Given the description of an element on the screen output the (x, y) to click on. 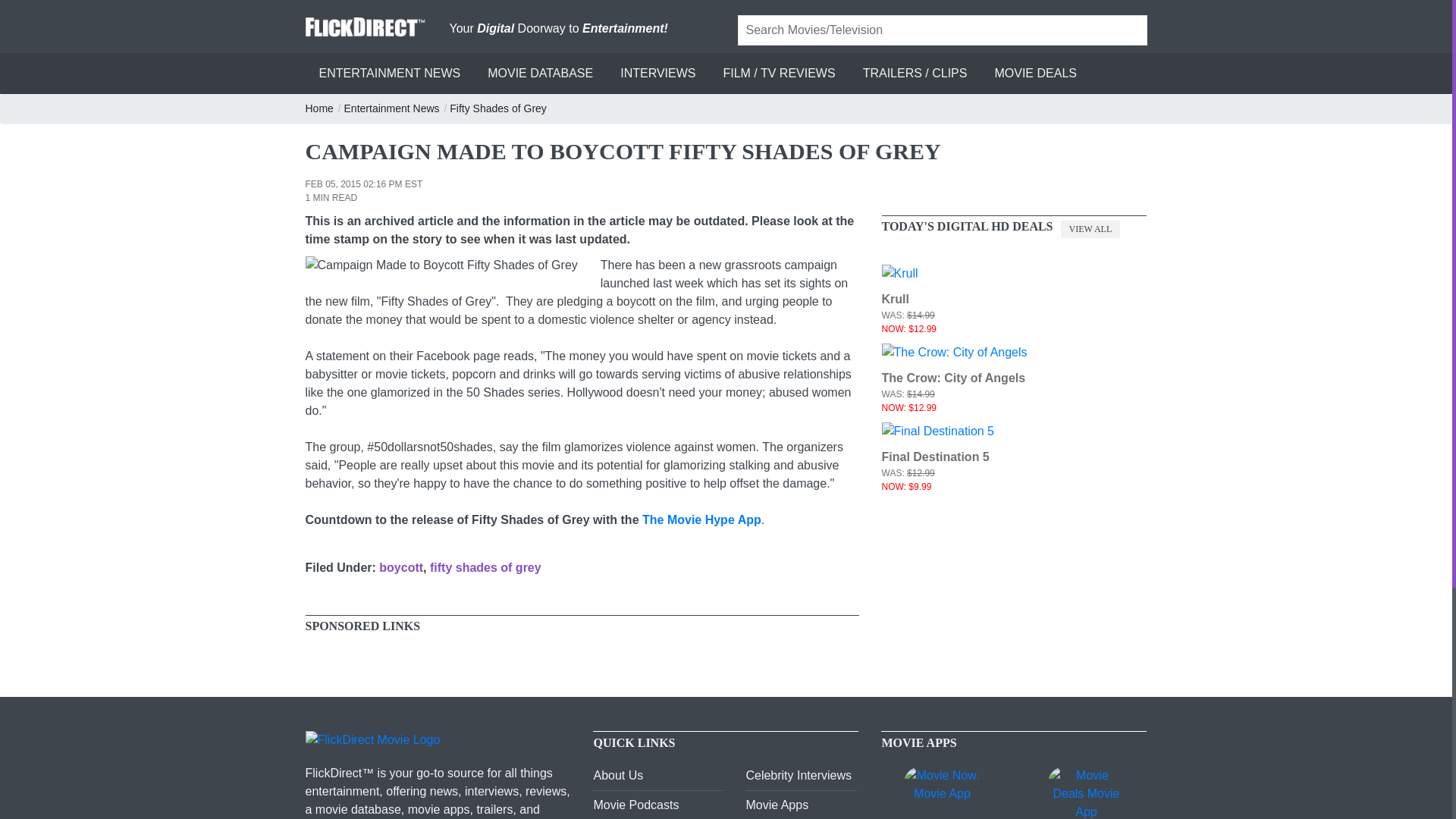
Entertainment News (392, 108)
Get Krull at a discounted price. (898, 273)
The Movie Hype App (701, 519)
Movie Deals (1034, 73)
Entertainment News (392, 108)
MOVIE DEALS (1034, 73)
ENTERTAINMENT NEWS (389, 73)
Home (319, 108)
INTERVIEWS (658, 73)
MOVIE DATABASE (540, 73)
boycott (400, 567)
Krull (894, 298)
Fifty Shades of Grey (498, 108)
fifty shades of grey (485, 567)
boycott (400, 567)
